Given the description of an element on the screen output the (x, y) to click on. 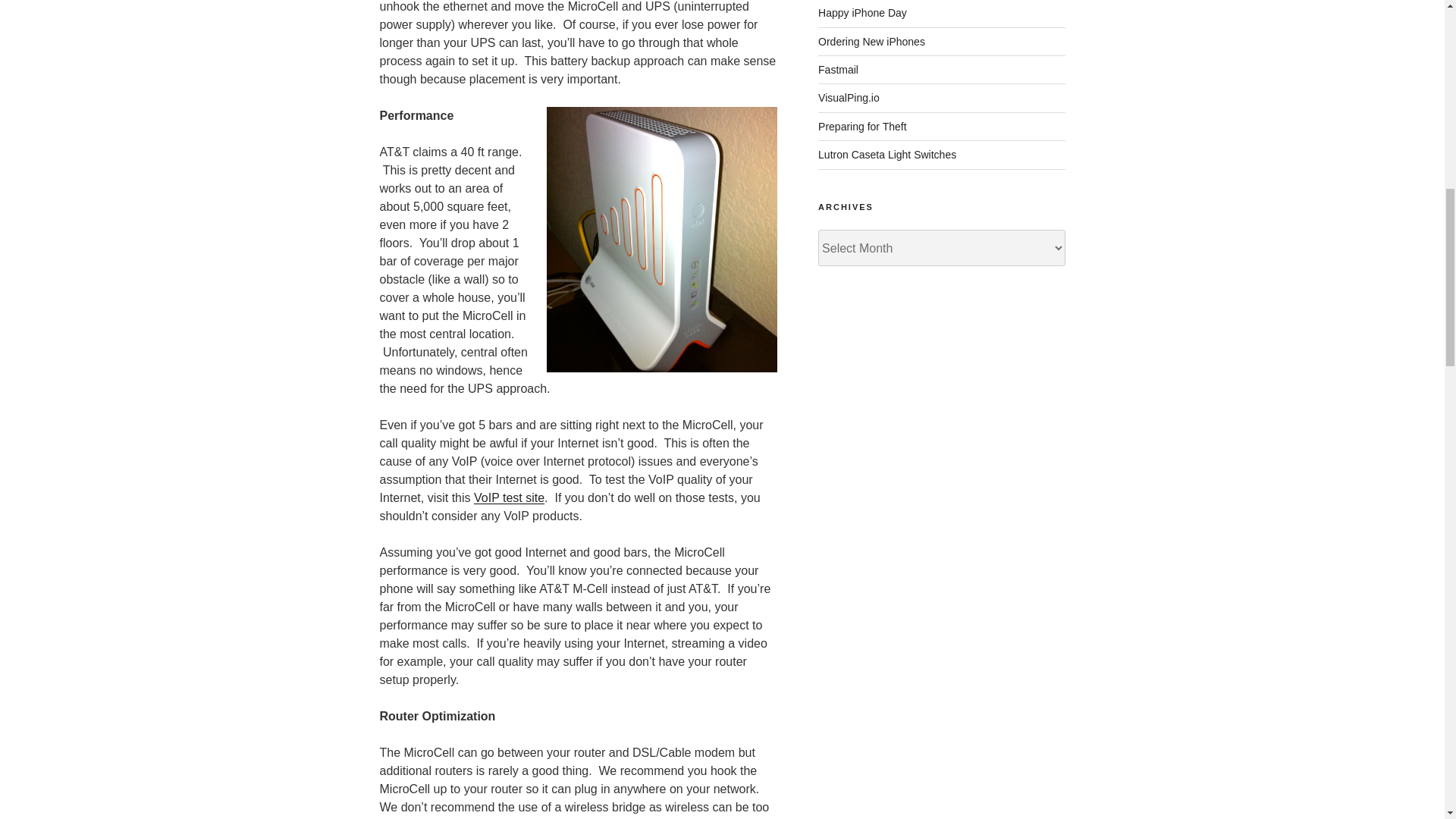
Lutron Caseta Light Switches (887, 154)
VisualPing.io (848, 97)
Ordering New iPhones (871, 41)
Preparing for Theft (861, 126)
Fastmail (838, 69)
Happy iPhone Day (862, 12)
VoIP test site (509, 497)
